Given the description of an element on the screen output the (x, y) to click on. 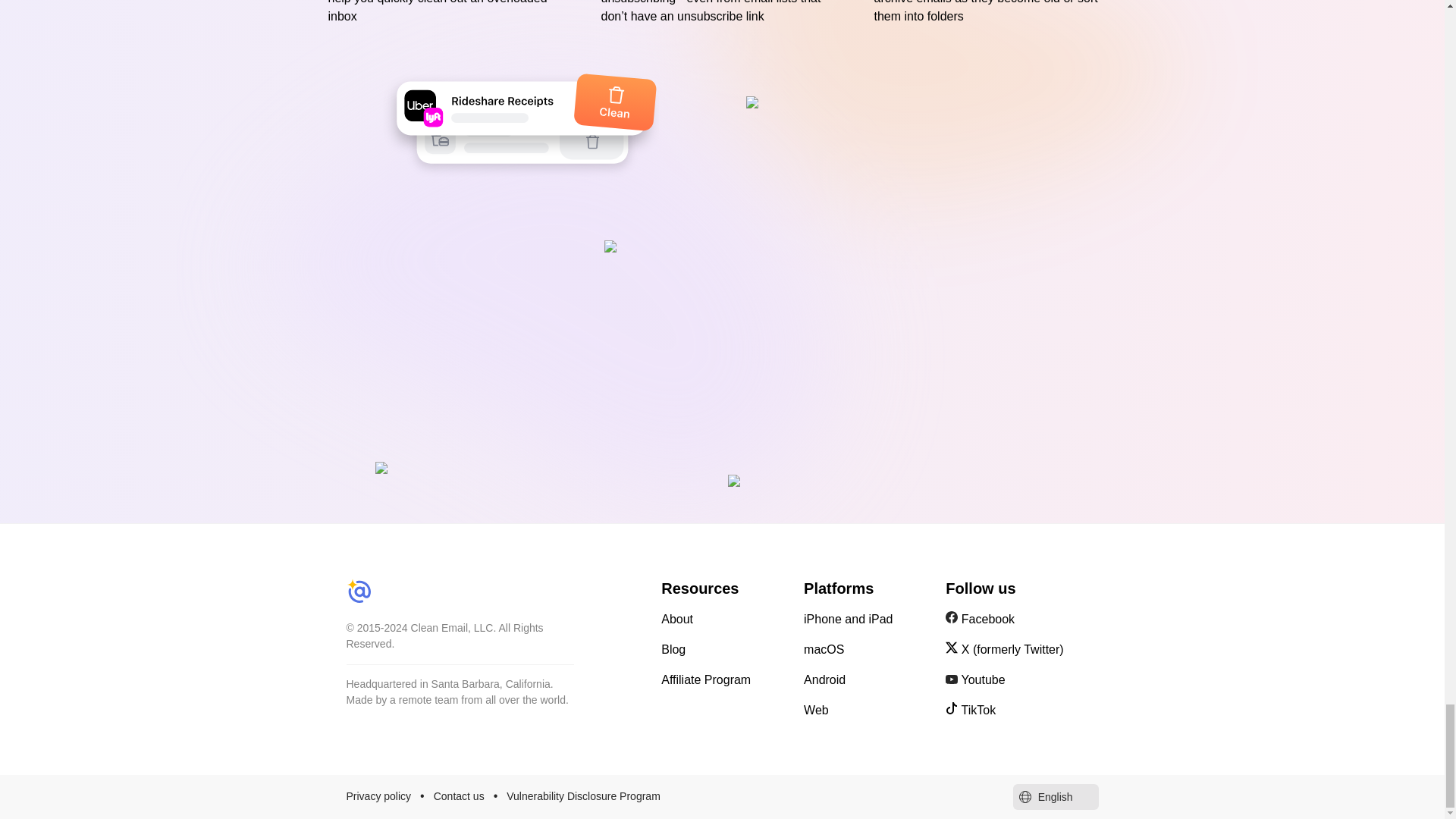
Web (865, 710)
Youtube (1020, 679)
iPhone and iPad (865, 619)
About (723, 619)
Facebook (1020, 619)
TikTok (1020, 710)
Home (494, 593)
Affiliate Program (723, 679)
macOS (865, 649)
Blog (723, 649)
Vulnerability Disclosure Program (583, 795)
